Given the description of an element on the screen output the (x, y) to click on. 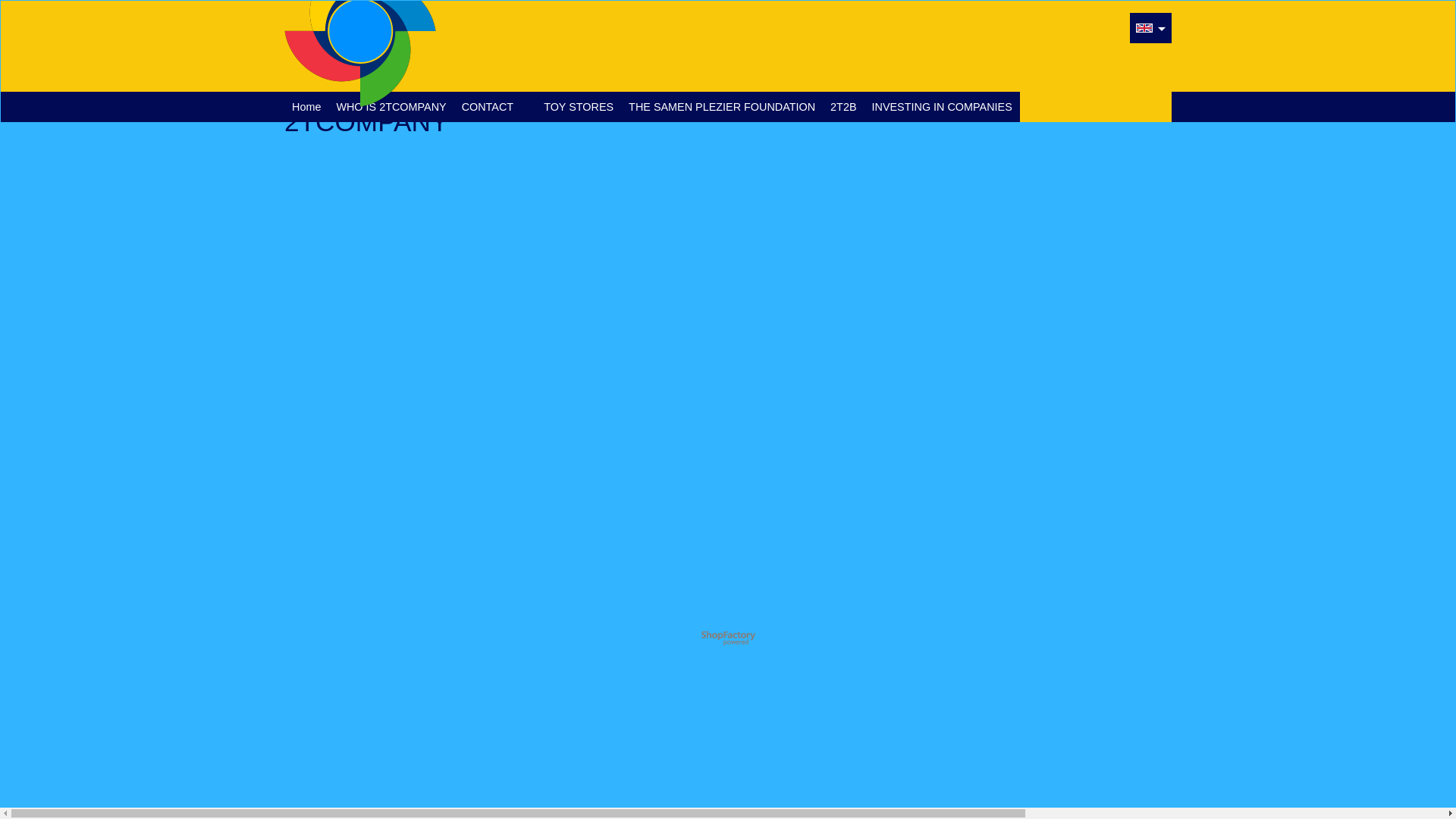
2T2B Element type: text (842, 106)
TOY STORES Element type: text (578, 106)
THE SAMEN PLEZIER FOUNDATION Element type: text (721, 106)
Home Element type: text (306, 106)
CONTACT Element type: text (487, 106)
INVESTING IN COMPANIES Element type: text (941, 106)
English Element type: hover (1143, 27)
WHO IS 2TCOMPANY Element type: text (390, 106)
